Given the description of an element on the screen output the (x, y) to click on. 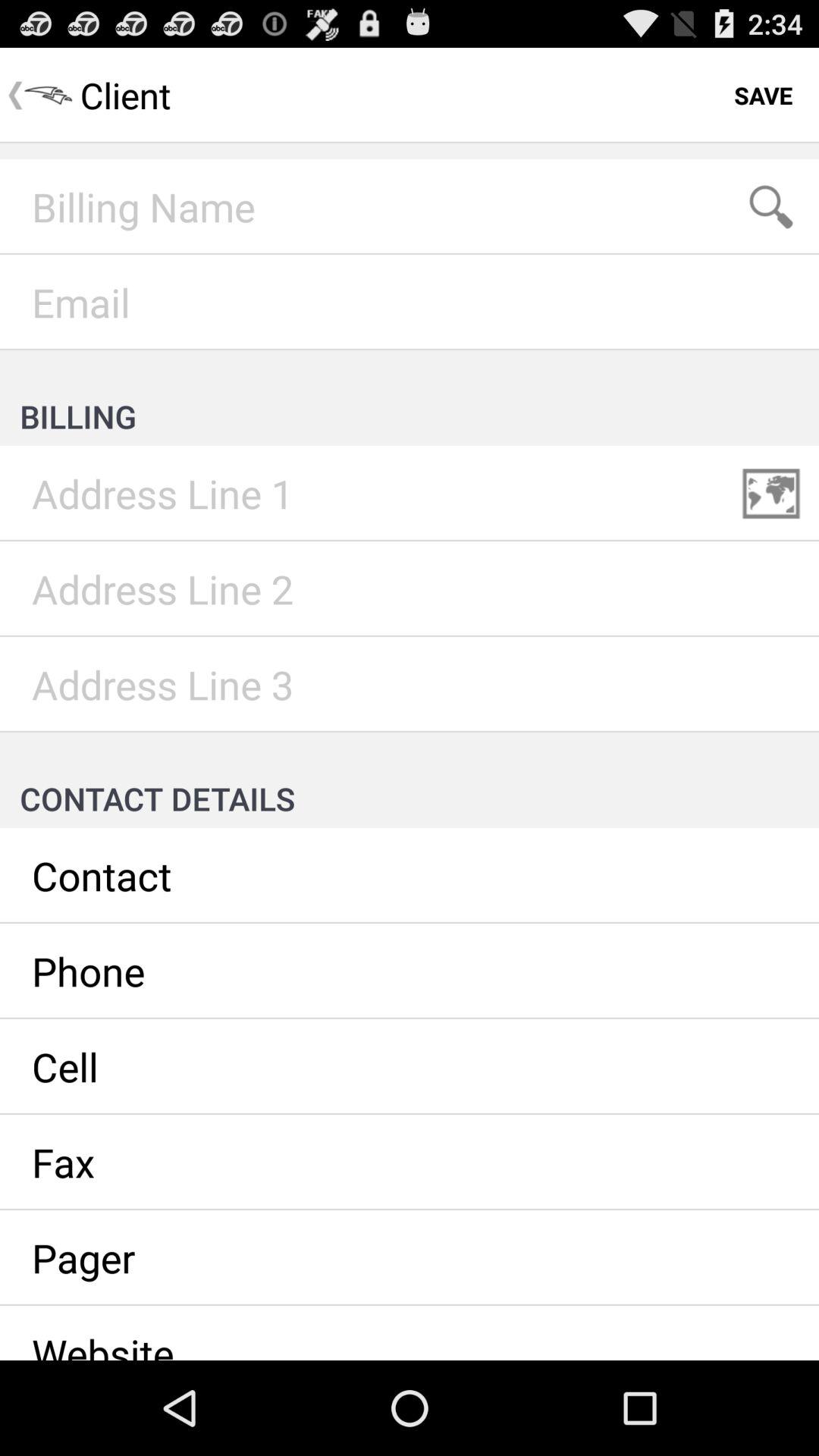
email dialogue box (409, 302)
